Given the description of an element on the screen output the (x, y) to click on. 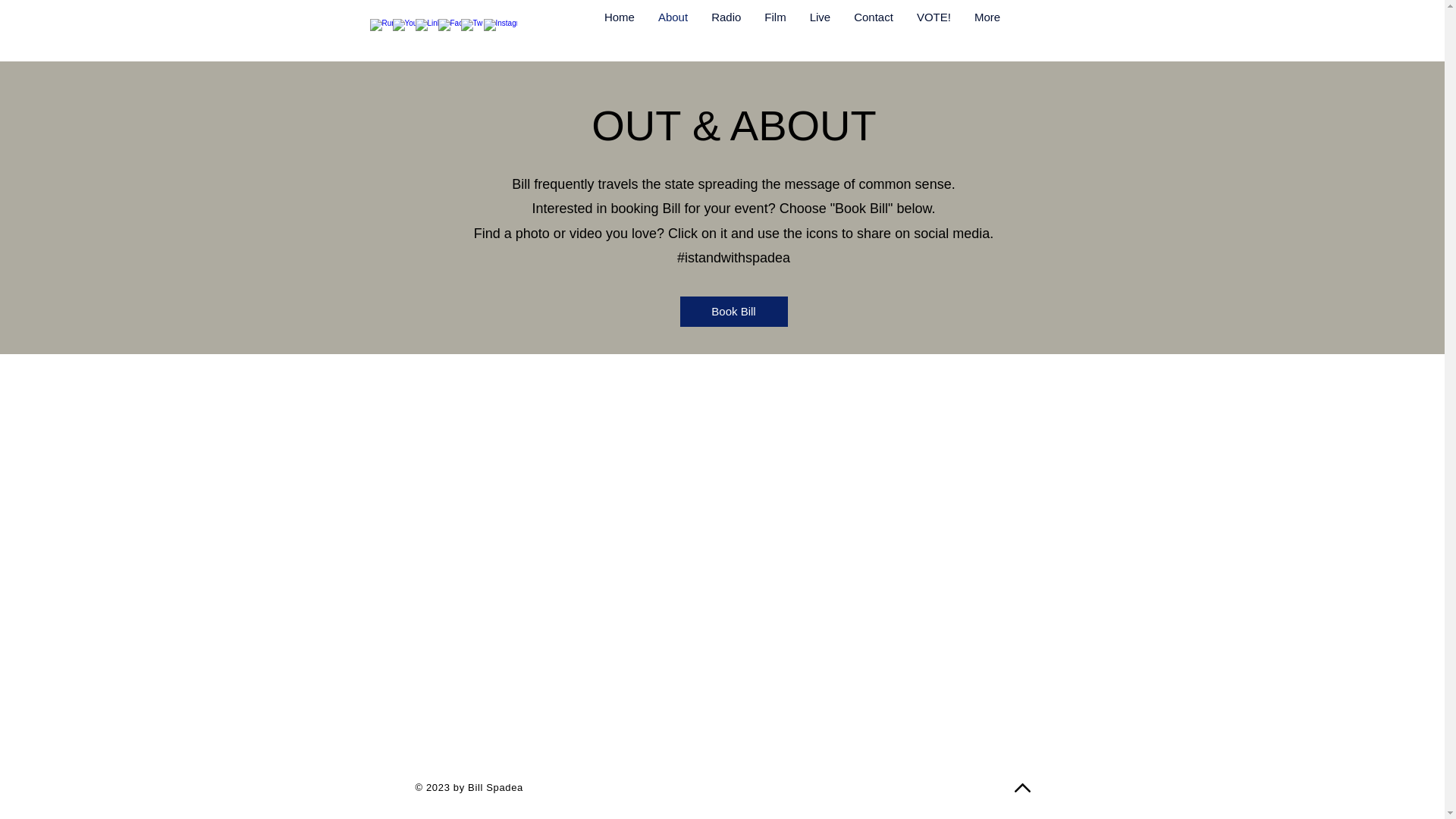
Book Bill (733, 311)
Film (774, 27)
Live (820, 27)
About (672, 27)
Home (619, 27)
Radio (725, 27)
Contact (872, 27)
